Given the description of an element on the screen output the (x, y) to click on. 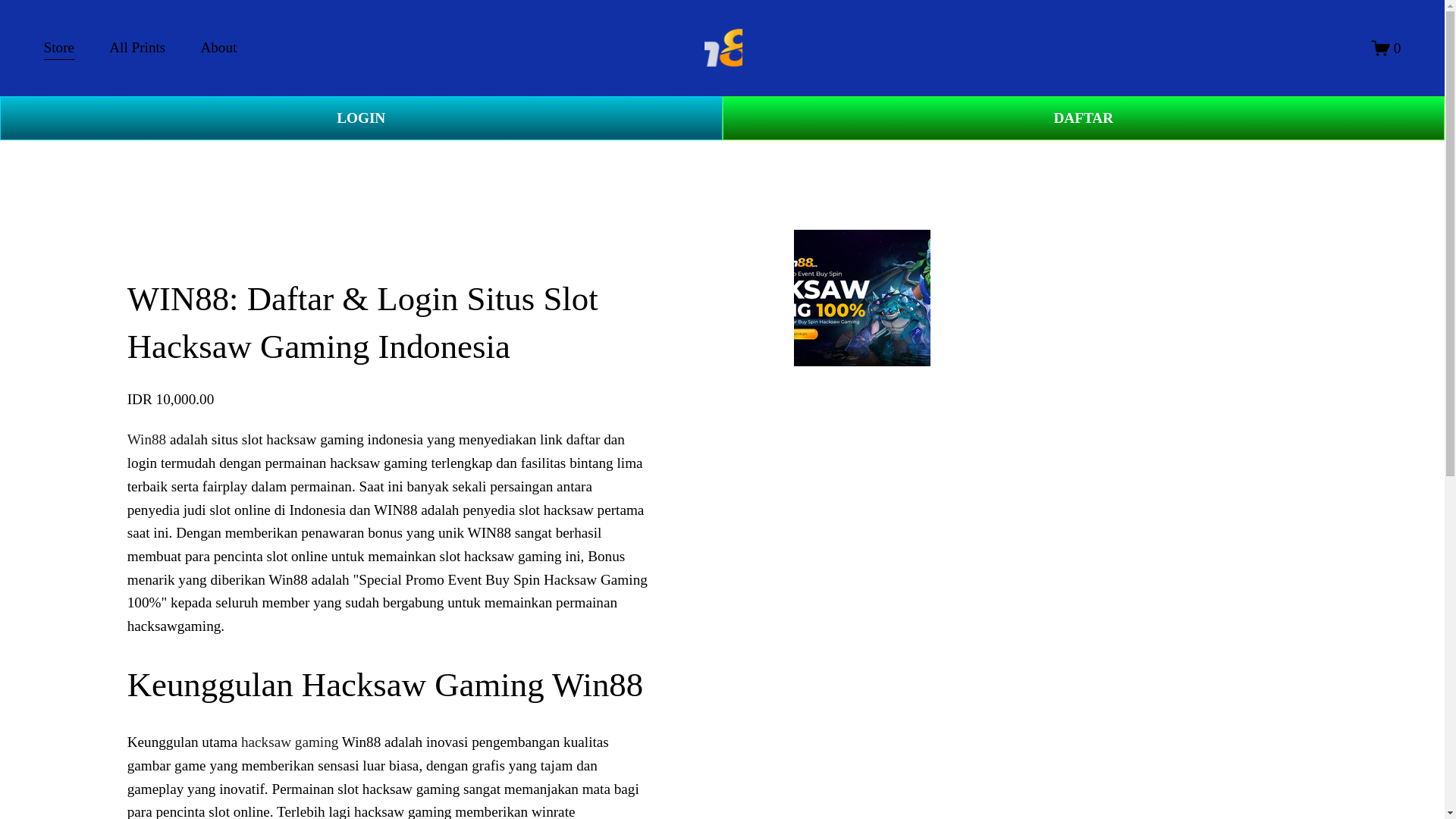
hacksaw gaming (289, 741)
LOGIN (361, 118)
All Prints (137, 48)
About (217, 48)
0 (1385, 47)
Win88 (146, 439)
Store (59, 48)
